Given the description of an element on the screen output the (x, y) to click on. 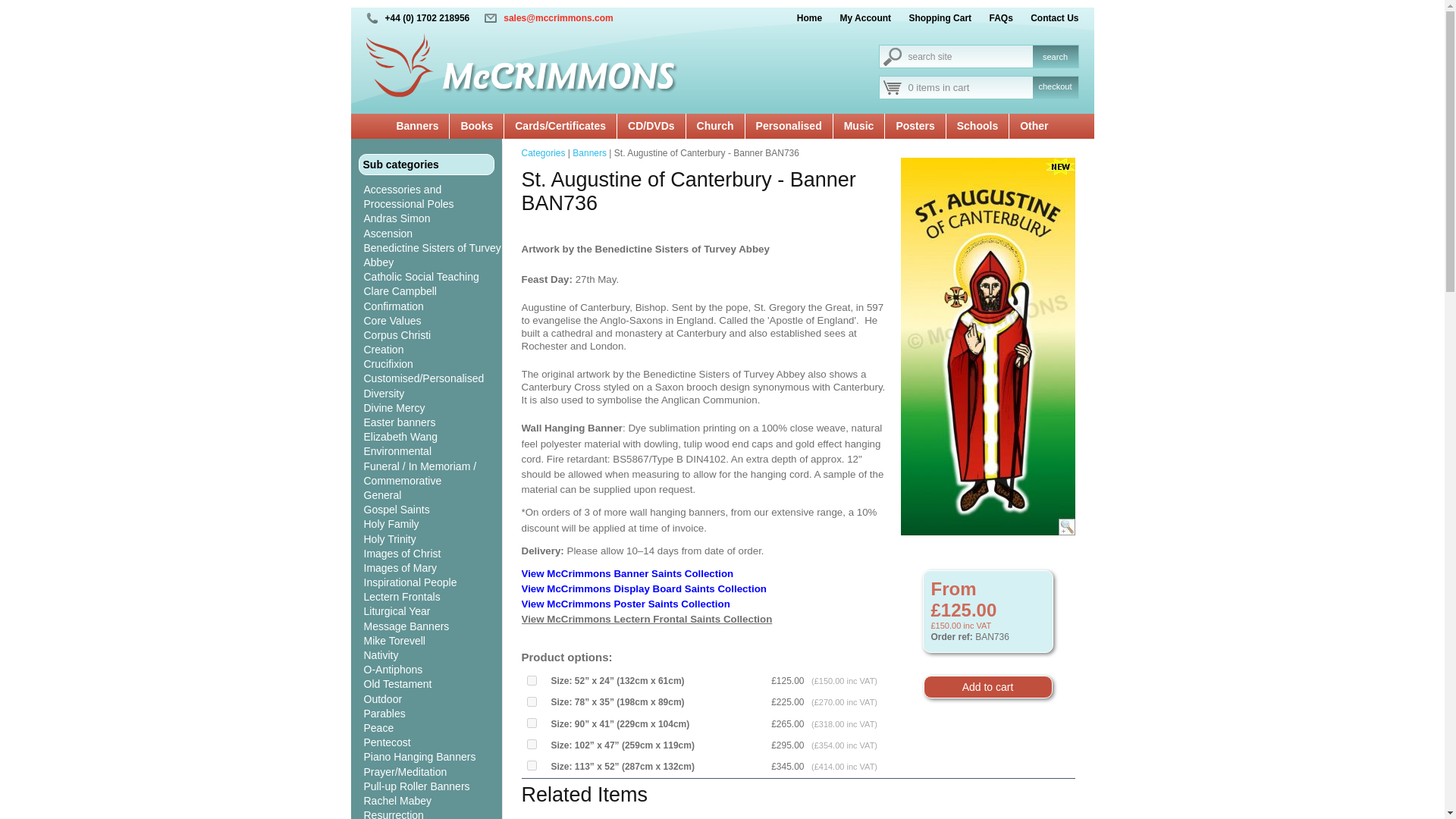
on (530, 723)
Add to cart (987, 686)
Banners (416, 126)
search (1055, 56)
Contact Us (1046, 18)
My Account (858, 18)
search (1055, 56)
on (530, 680)
search site (954, 56)
Shopping Cart (932, 18)
